Given the description of an element on the screen output the (x, y) to click on. 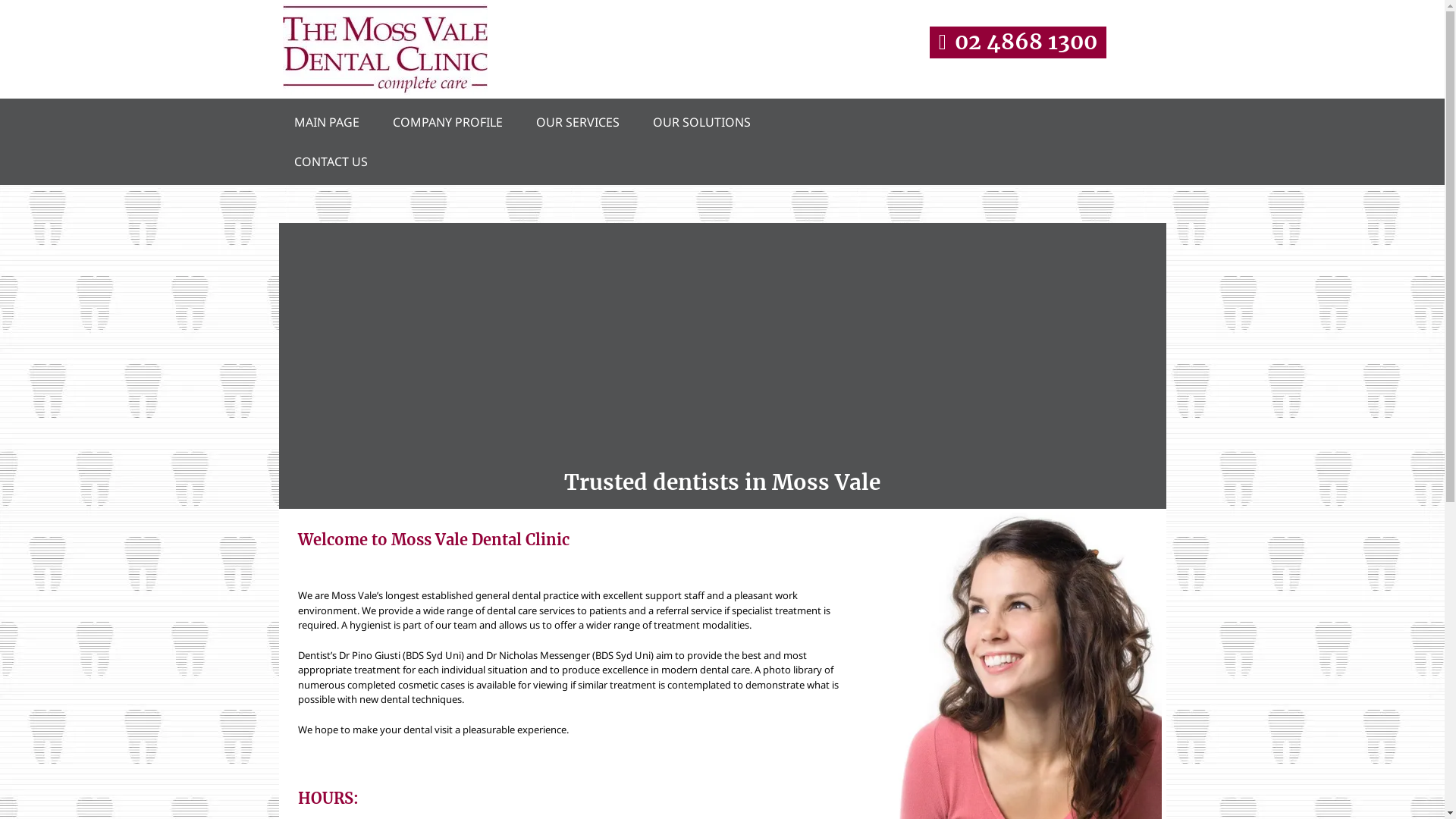
OUR SERVICES Element type: text (576, 121)
OUR SOLUTIONS Element type: text (701, 121)
the moss vale dental clinic logo Element type: hover (384, 48)
COMPANY PROFILE Element type: text (447, 121)
MAIN PAGE Element type: text (326, 121)
CONTACT US Element type: text (330, 161)
